Given the description of an element on the screen output the (x, y) to click on. 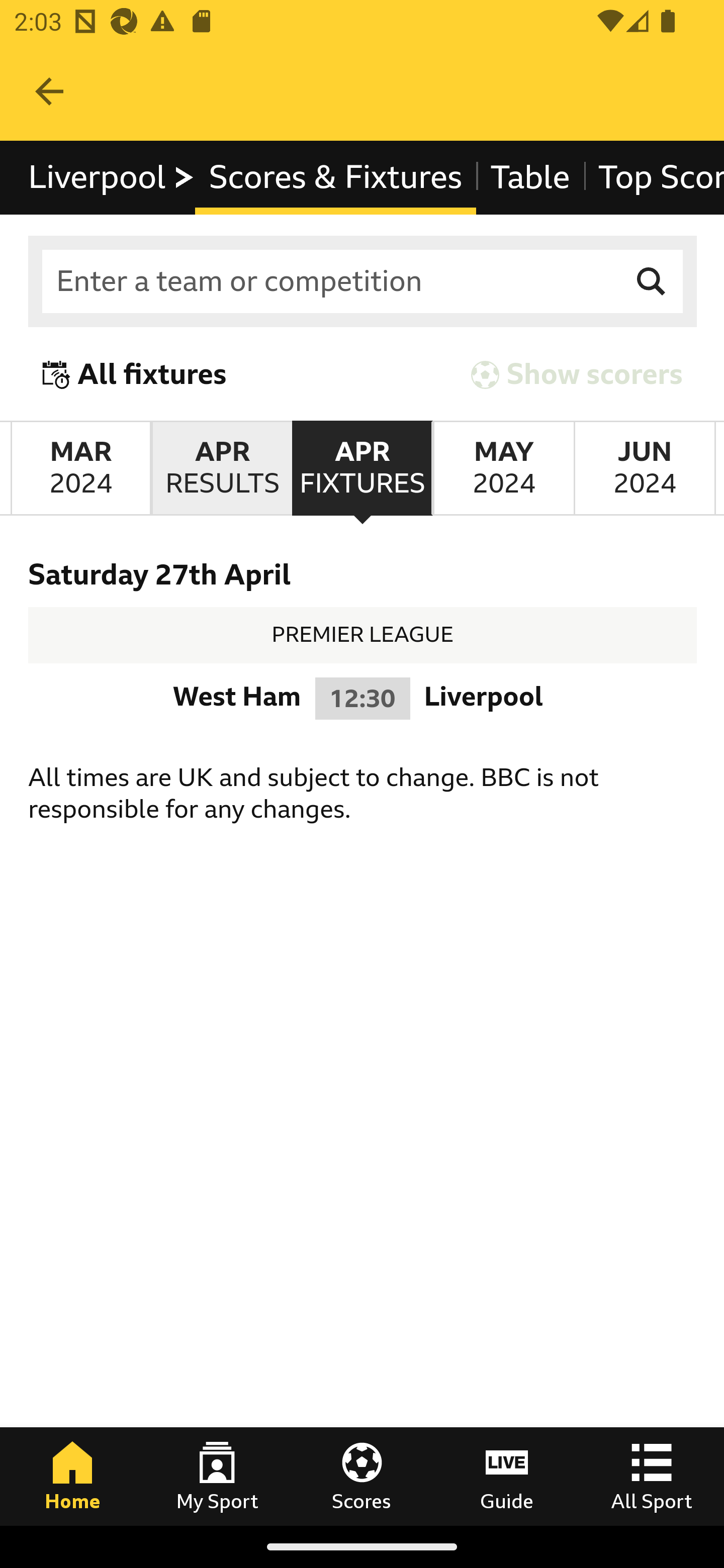
Navigate up (49, 91)
Liverpool  (111, 177)
Scores & Fixtures (334, 177)
Table (529, 177)
Search (651, 282)
All fixtures (134, 374)
Show scorers (576, 374)
March2024 March 2024 (80, 468)
AprilRESULTS April RESULTS (221, 468)
AprilFIXTURES, Selected April FIXTURES , Selected (361, 468)
May2024 May 2024 (502, 468)
June2024 June 2024 (644, 468)
My Sport (216, 1475)
Scores (361, 1475)
Guide (506, 1475)
All Sport (651, 1475)
